Given the description of an element on the screen output the (x, y) to click on. 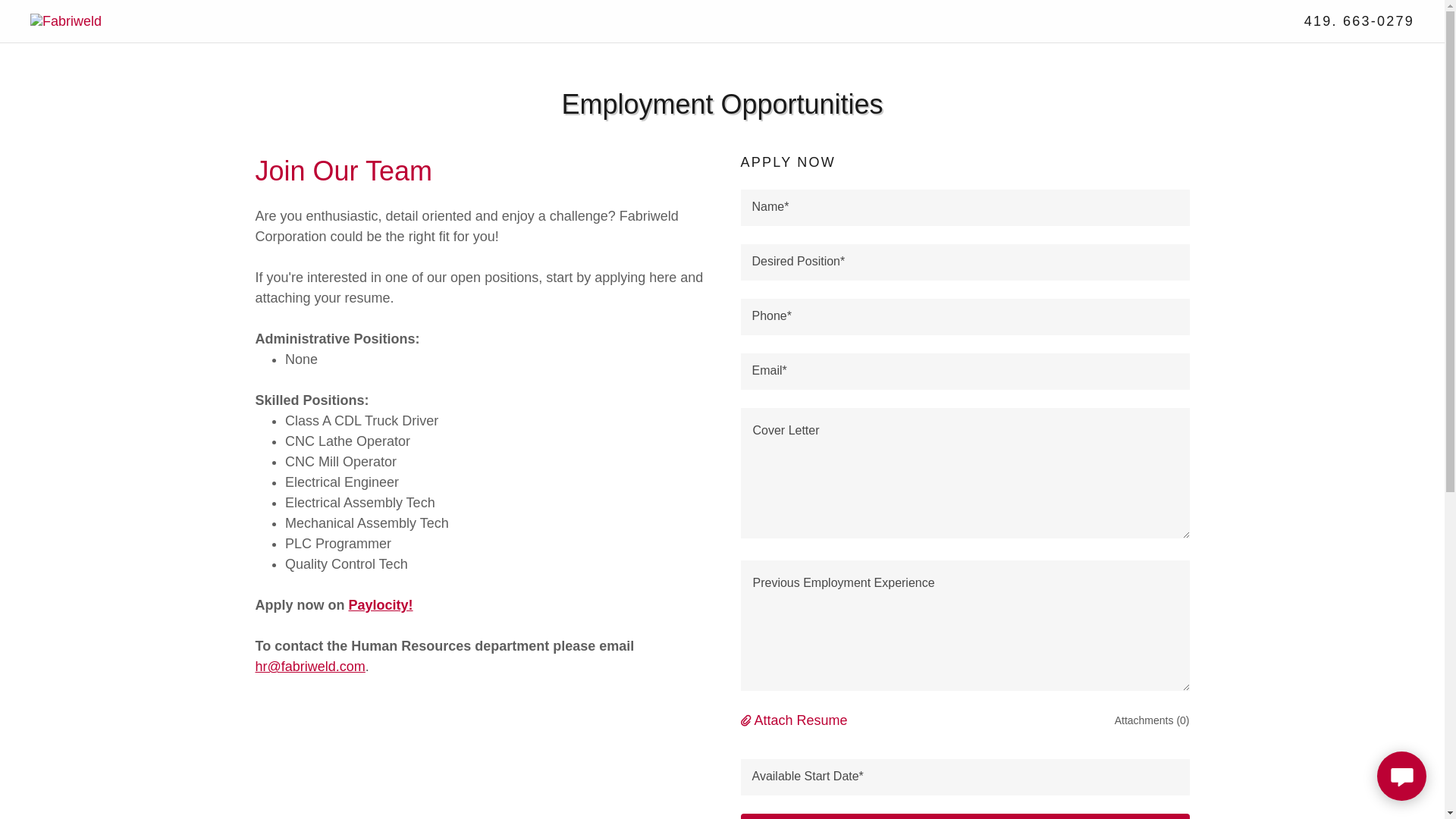
Paylocity! (381, 604)
419. 663-0279 (1358, 20)
Fabriweld (65, 20)
